Given the description of an element on the screen output the (x, y) to click on. 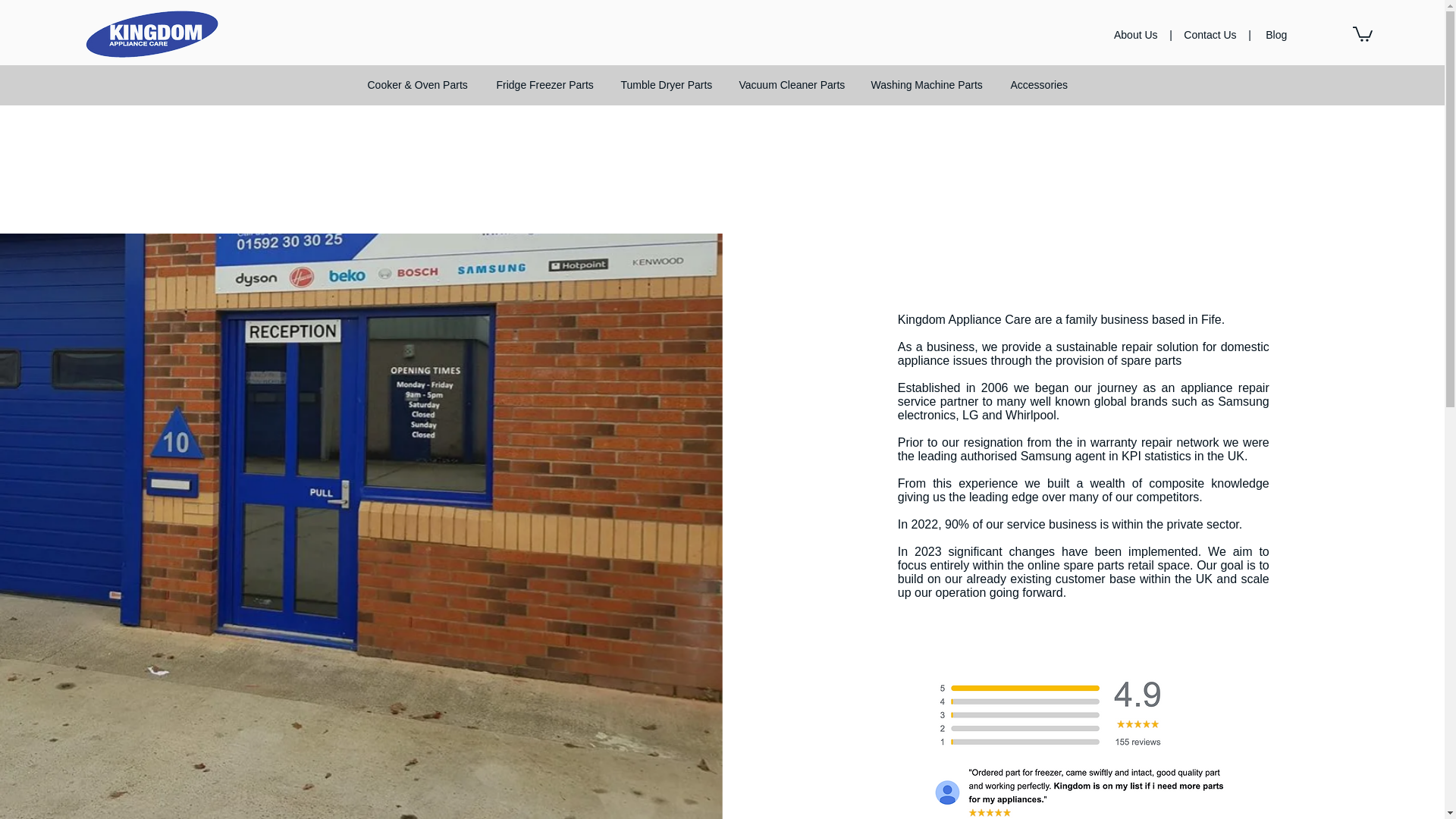
Washing Machine Parts (928, 85)
About Us  (1136, 34)
Accessories (1037, 85)
Fridge Freezer Parts (545, 85)
Tumble Dryer Parts (667, 85)
Vacuum Cleaner Parts (792, 85)
Contact Us (1209, 34)
Blog (1276, 34)
